Given the description of an element on the screen output the (x, y) to click on. 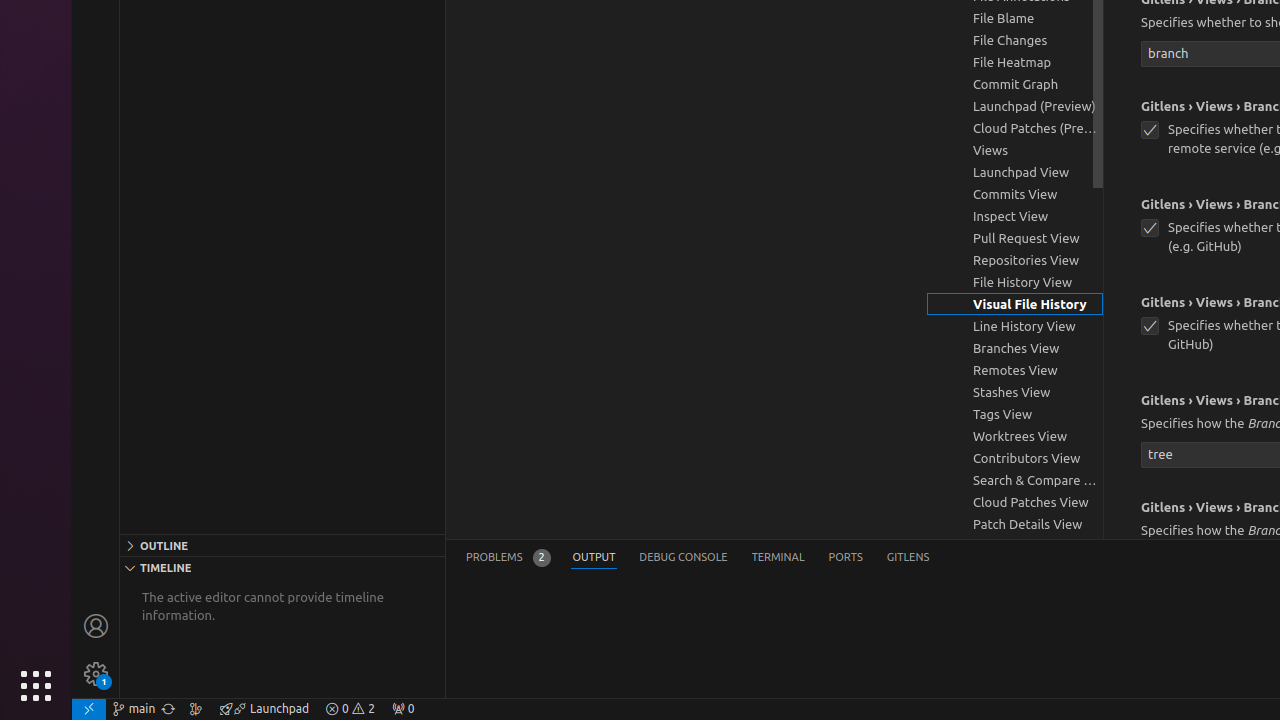
GitLens Element type: page-tab (908, 557)
File Heatmap, group Element type: tree-item (1015, 62)
Inspect View, group Element type: tree-item (1015, 216)
No Ports Forwarded Element type: push-button (403, 709)
Terminal (Ctrl+`) Element type: page-tab (778, 557)
